Given the description of an element on the screen output the (x, y) to click on. 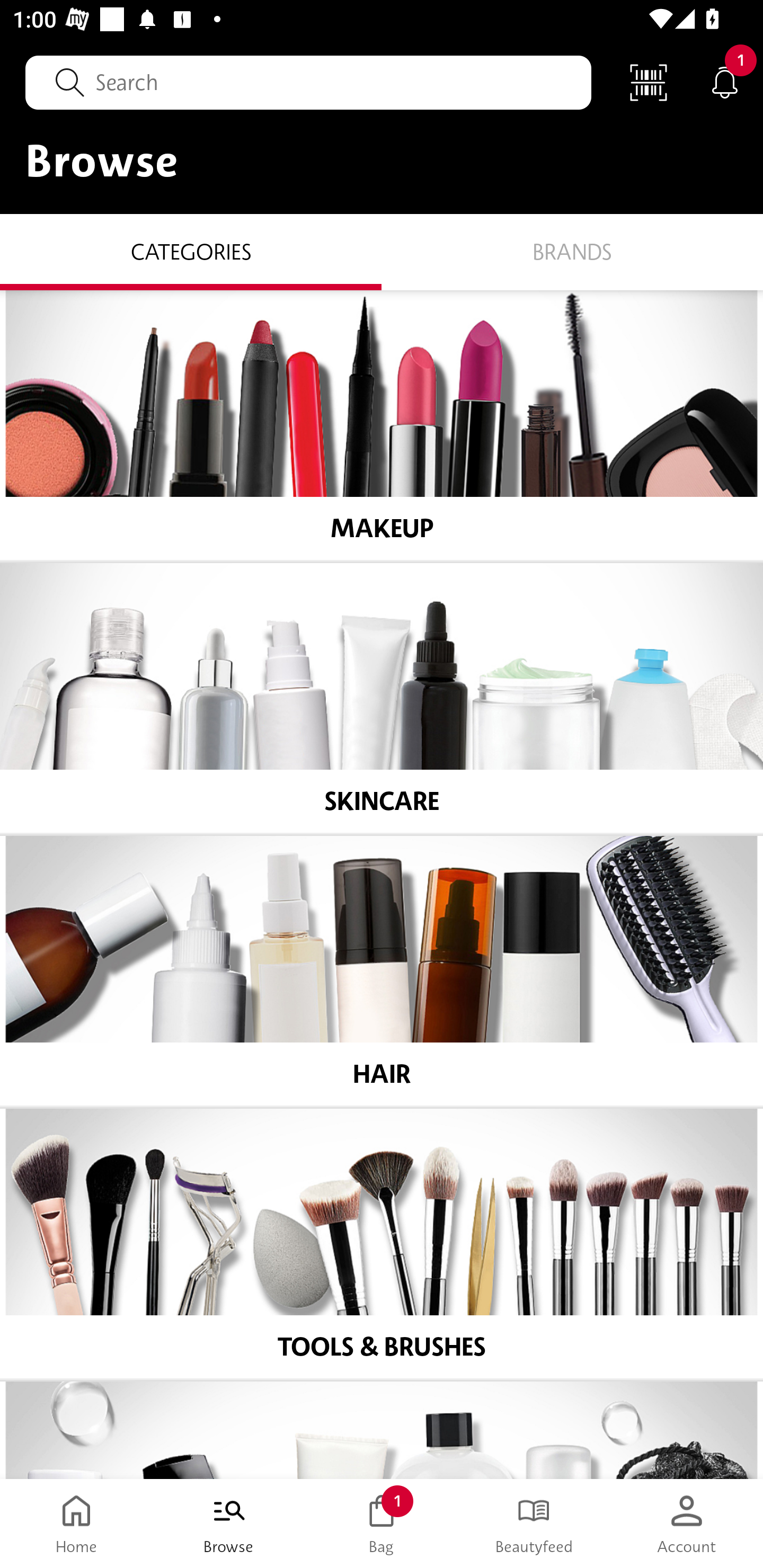
Scan Code (648, 81)
Notifications (724, 81)
Search (308, 81)
Brands BRANDS (572, 251)
MAKEUP (381, 425)
SKINCARE (381, 698)
HAIR (381, 971)
TOOLS & BRUSHES (381, 1243)
Home (76, 1523)
Bag 1 Bag (381, 1523)
Beautyfeed (533, 1523)
Account (686, 1523)
